Given the description of an element on the screen output the (x, y) to click on. 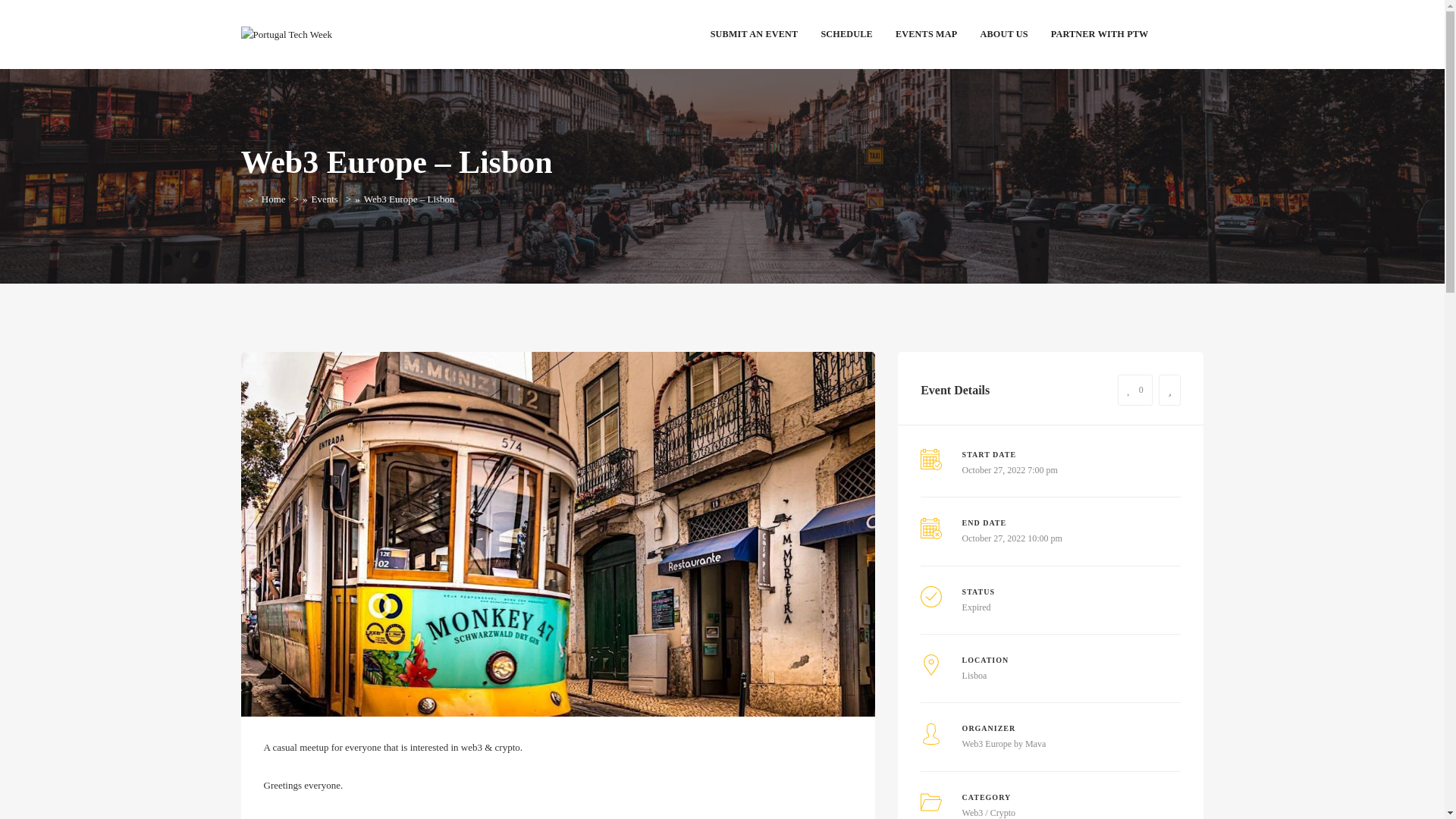
EVENTS MAP (925, 33)
Web3 Europe by Mava (1004, 743)
PARTNER WITH PTW (1099, 33)
Home (273, 199)
ABOUT US (1003, 33)
0 (1135, 389)
Lisboa (974, 675)
SUBMIT AN EVENT (753, 33)
Events (324, 199)
SCHEDULE (846, 33)
